Given the description of an element on the screen output the (x, y) to click on. 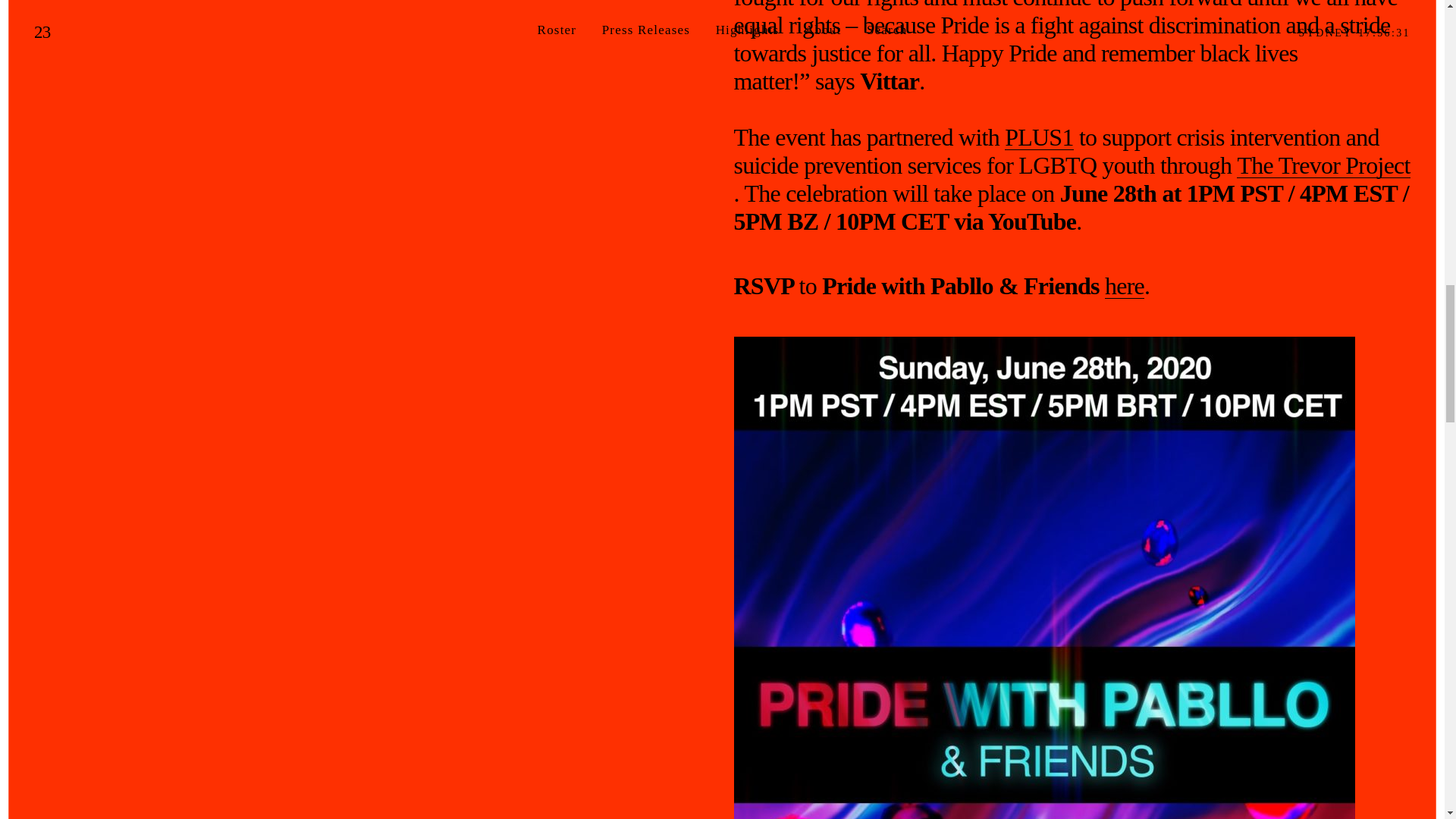
here (1124, 285)
The Trevor Project (1322, 165)
PLUS1 (1039, 137)
